Given the description of an element on the screen output the (x, y) to click on. 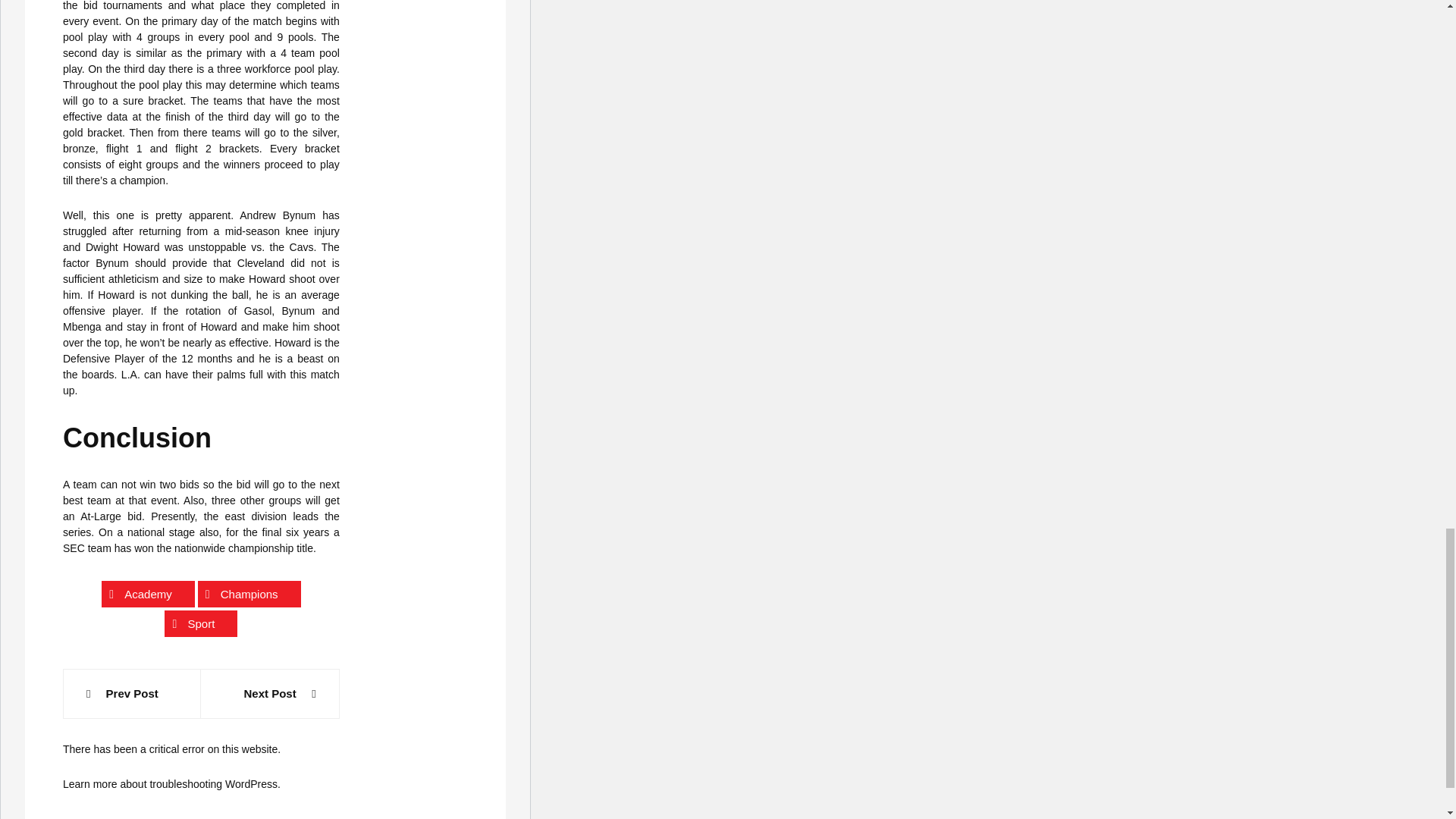
Next Post (269, 693)
Academy (148, 593)
Champions (249, 593)
Sport (200, 623)
Prev Post (131, 693)
Learn more about troubleshooting WordPress. (171, 784)
